Given the description of an element on the screen output the (x, y) to click on. 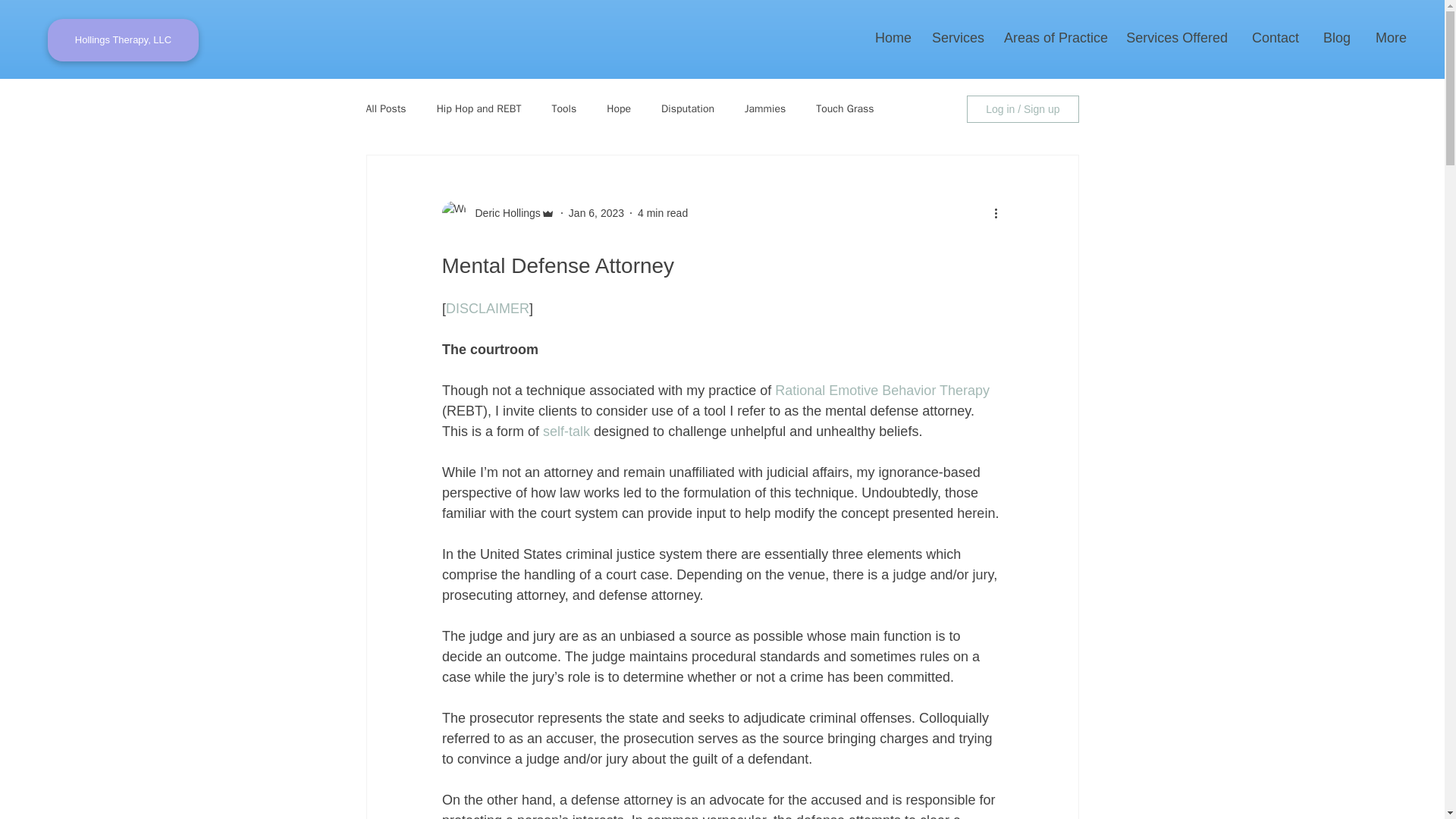
Jammies (765, 109)
Tools (563, 109)
Touch Grass (844, 109)
Home (888, 37)
DISCLAIMER (487, 308)
Blog (1332, 37)
Hope (618, 109)
All Posts (385, 109)
Jan 6, 2023 (596, 212)
Hip Hop and REBT (478, 109)
Hollings Therapy, LLC (123, 39)
Services Offered (1174, 37)
self-talk (566, 431)
4 min read (662, 212)
Services (954, 37)
